Given the description of an element on the screen output the (x, y) to click on. 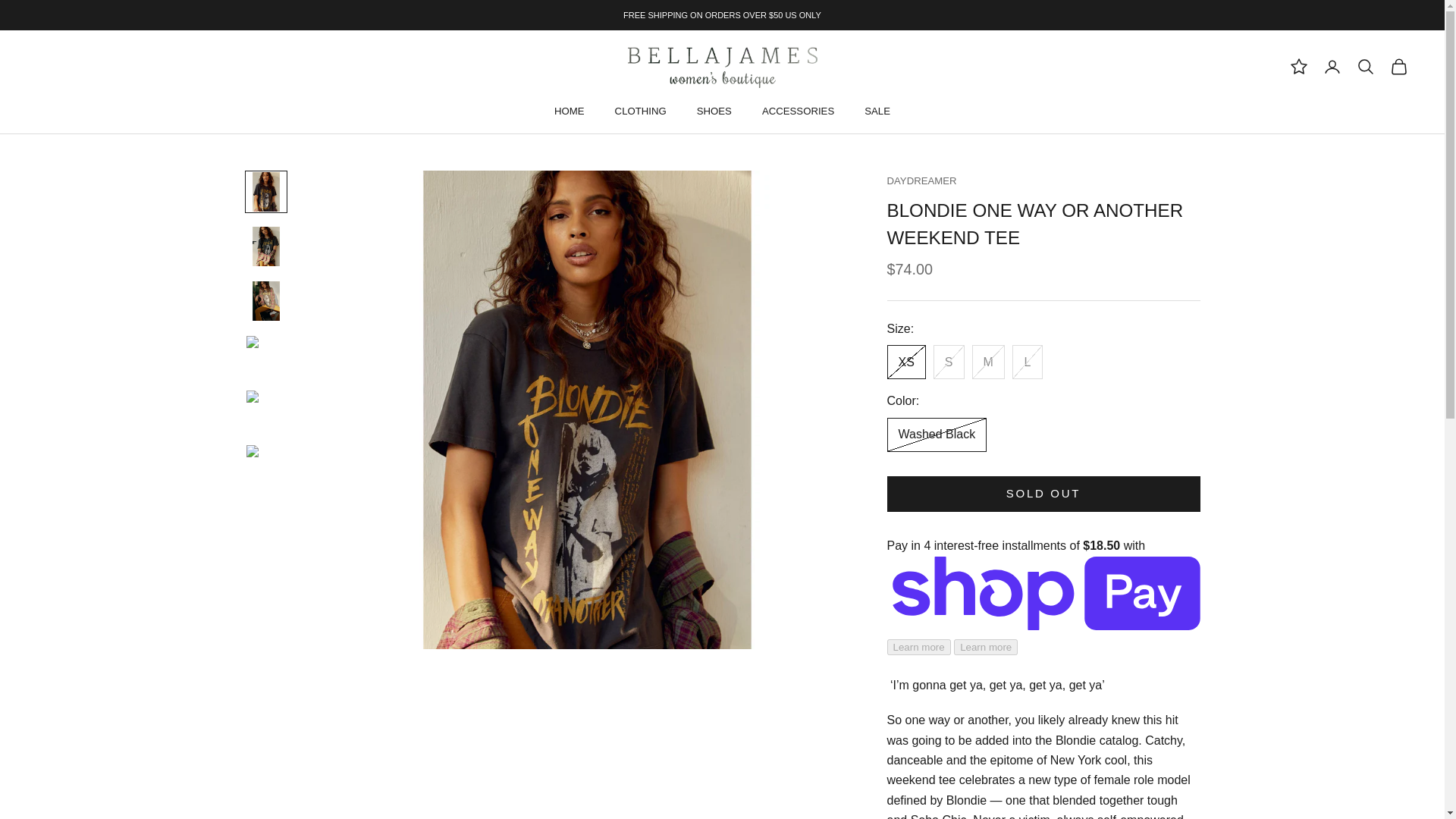
SALE (876, 111)
Open search (1365, 66)
SHOES (714, 111)
Open cart (1398, 66)
HOME (569, 111)
BellaJames Women's Boutique (721, 66)
Open account page (1331, 66)
